Given the description of an element on the screen output the (x, y) to click on. 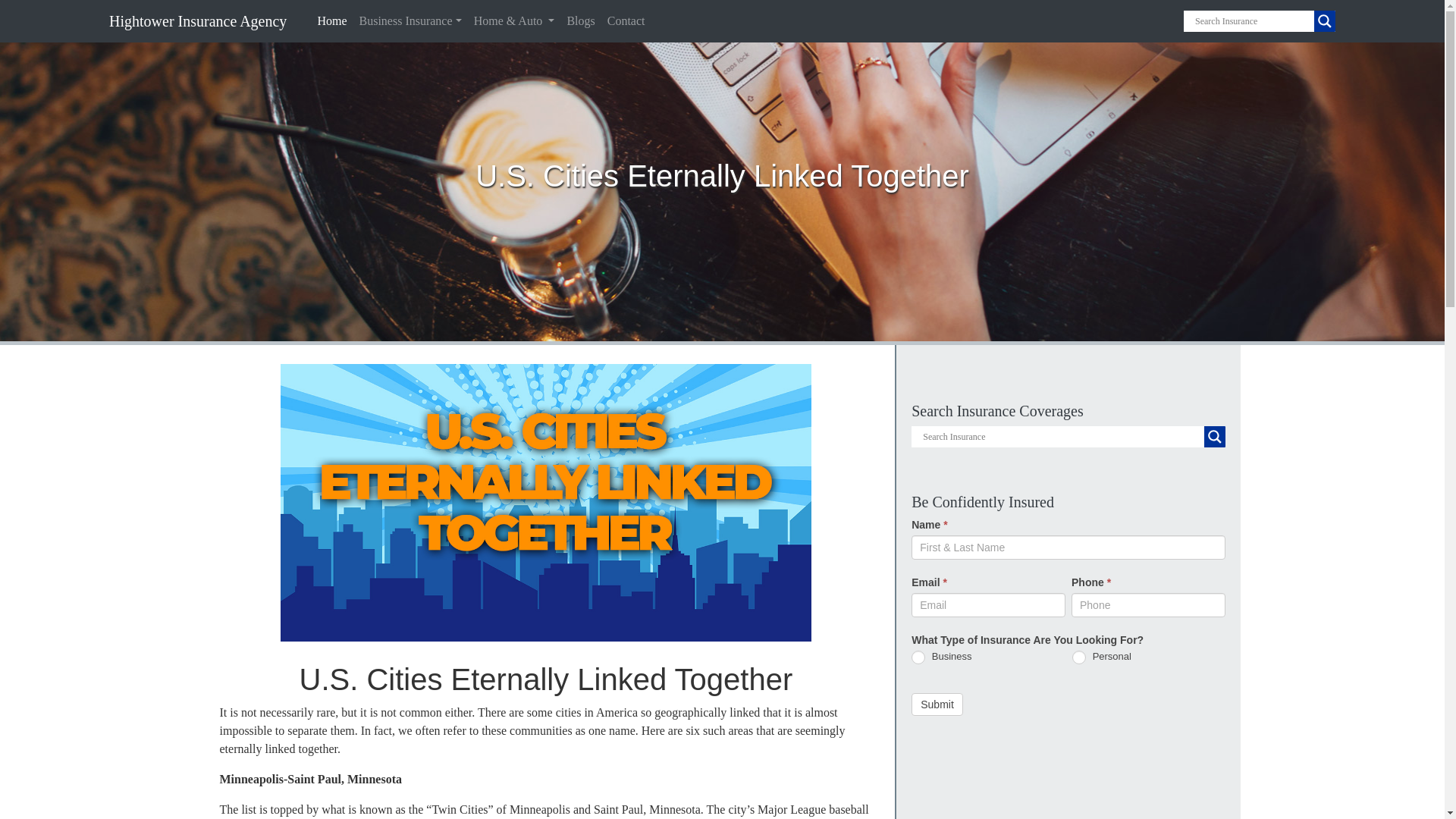
Hightower Insurance Agency (185, 20)
Submit (936, 703)
Blogs (579, 20)
Business (917, 657)
Personal (1078, 657)
Contact (625, 20)
Business Insurance (409, 20)
